Given the description of an element on the screen output the (x, y) to click on. 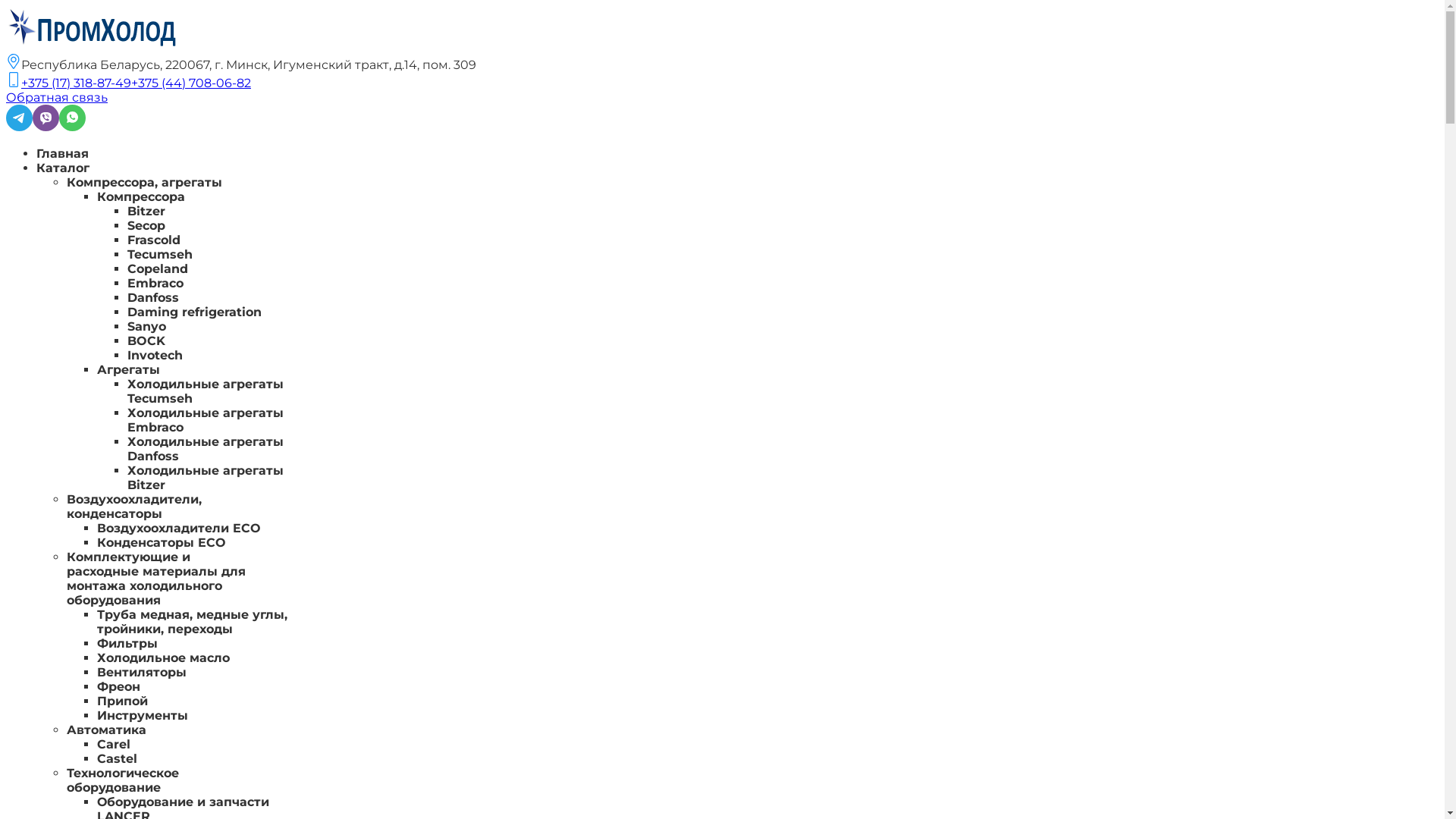
Sanyo Element type: text (146, 326)
Carel Element type: text (113, 744)
Bitzer Element type: text (146, 210)
BOCK Element type: text (146, 340)
Danfoss Element type: text (152, 297)
Invotech Element type: text (154, 355)
+375 (44) 708-06-82 Element type: text (191, 82)
Castel Element type: text (117, 758)
Embraco Element type: text (155, 283)
Secop Element type: text (146, 225)
Copeland Element type: text (157, 268)
Tecumseh Element type: text (159, 254)
+375 (17) 318-87-49 Element type: text (76, 82)
Daming refrigeration Element type: text (194, 311)
Frascold Element type: text (153, 239)
